Given the description of an element on the screen output the (x, y) to click on. 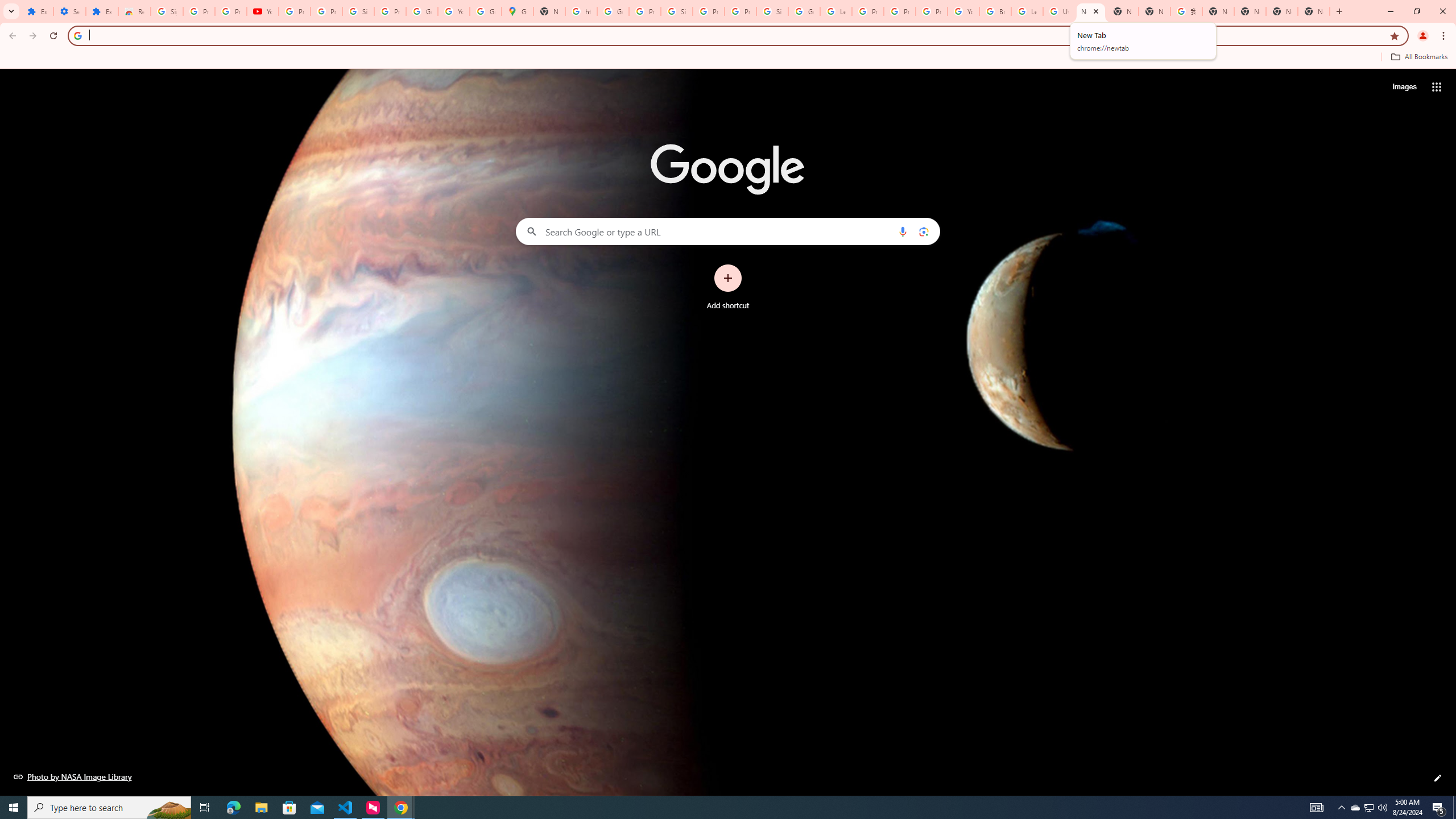
https://scholar.google.com/ (581, 11)
Sign in - Google Accounts (358, 11)
Google Account (421, 11)
